Given the description of an element on the screen output the (x, y) to click on. 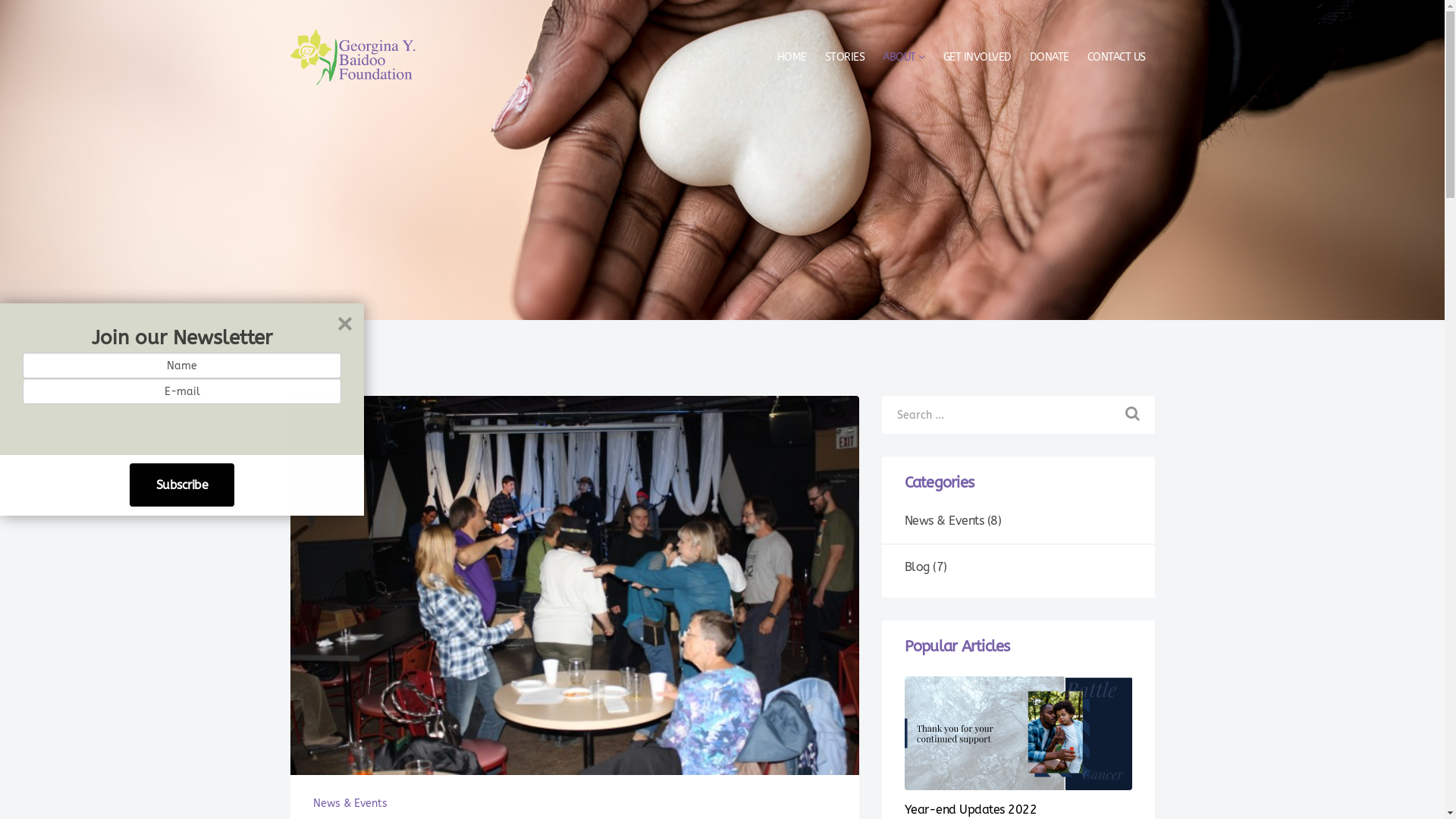
ABOUT Element type: text (903, 56)
Blog (7) Element type: text (1017, 567)
E-mail Element type: hover (181, 391)
Subscribe Element type: text (182, 484)
Name Element type: hover (181, 365)
News & Events Element type: text (349, 803)
CONTACT US Element type: text (1116, 57)
DONATE Element type: text (1049, 57)
News & Events (8) Element type: text (1017, 520)
GET INVOLVED Element type: text (977, 57)
HOME Element type: text (791, 57)
STORIES Element type: text (844, 57)
